Given the description of an element on the screen output the (x, y) to click on. 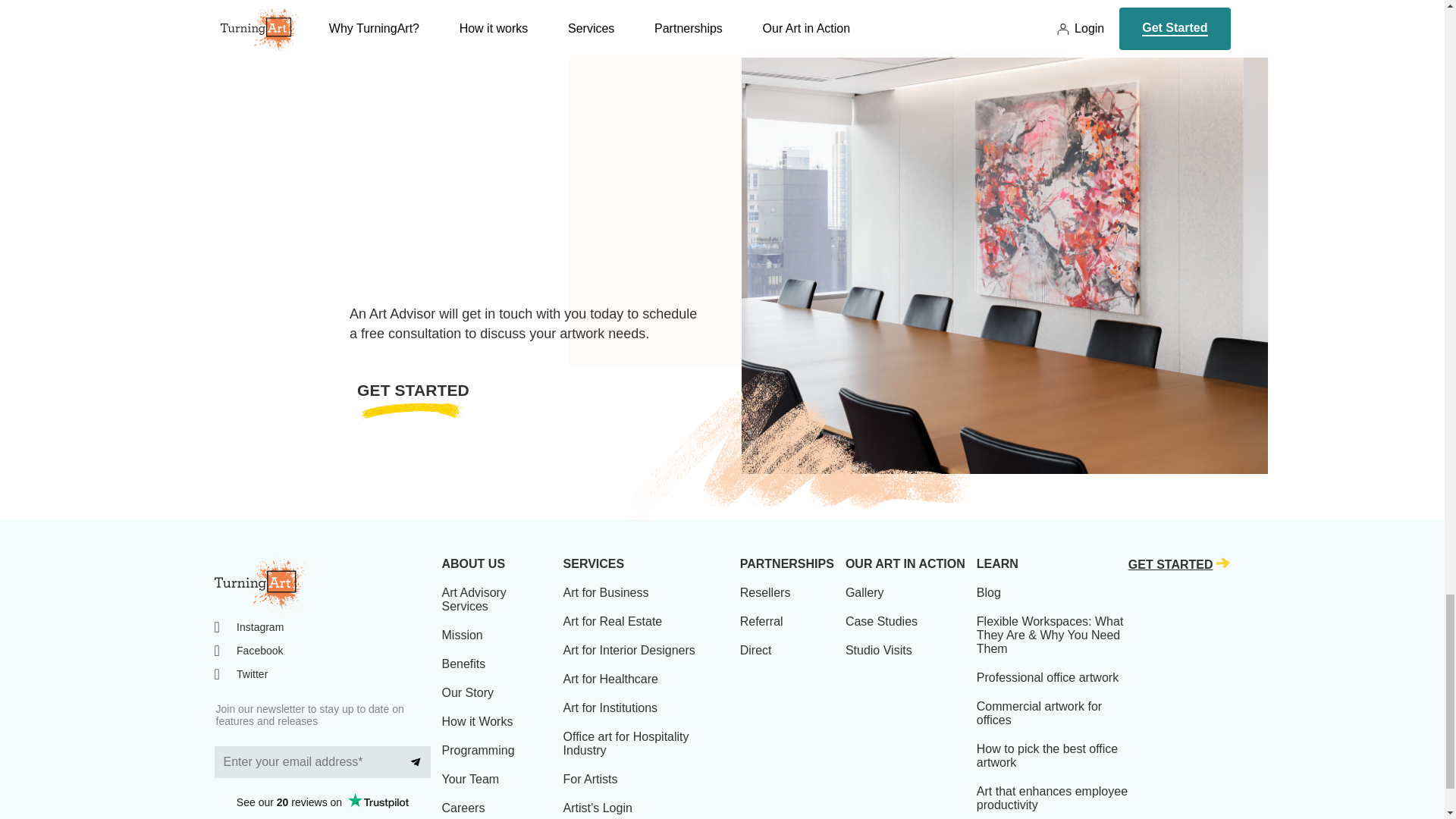
Submit (415, 762)
Customer reviews powered by Trustpilot (321, 802)
